Given the description of an element on the screen output the (x, y) to click on. 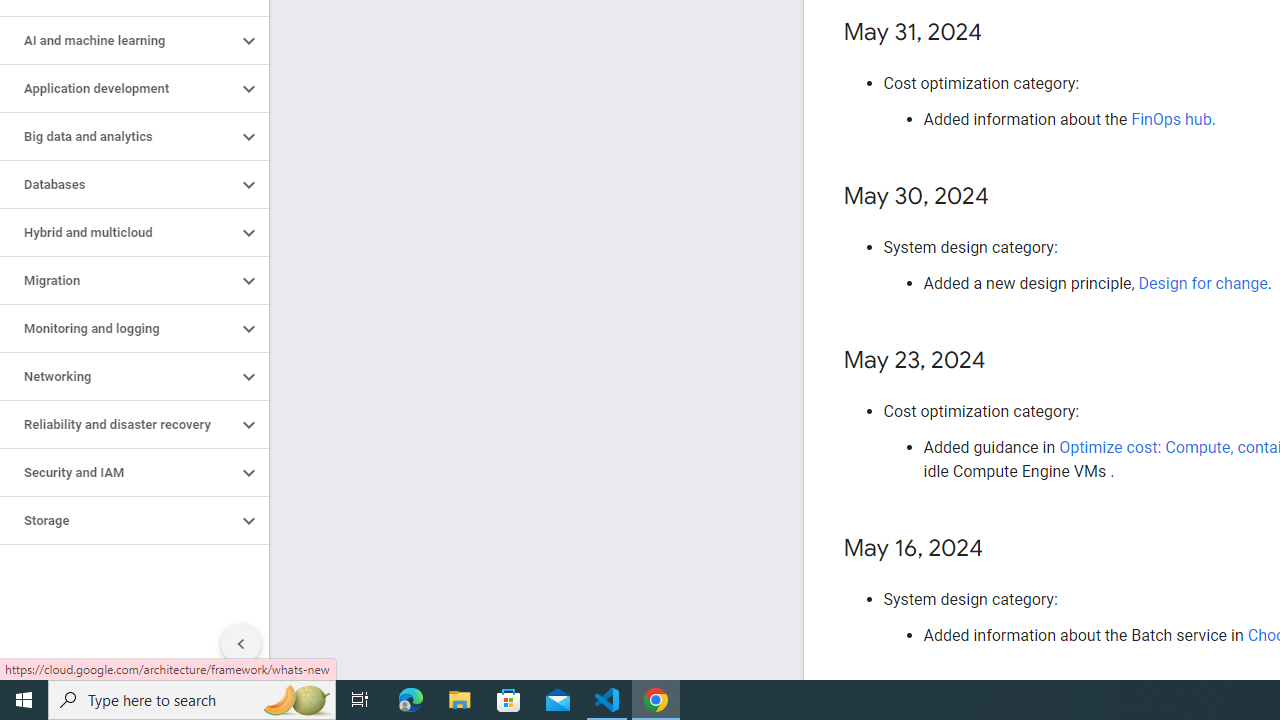
Hide side navigation (241, 643)
Storage (118, 520)
Security and IAM (118, 472)
Networking (118, 376)
